Given the description of an element on the screen output the (x, y) to click on. 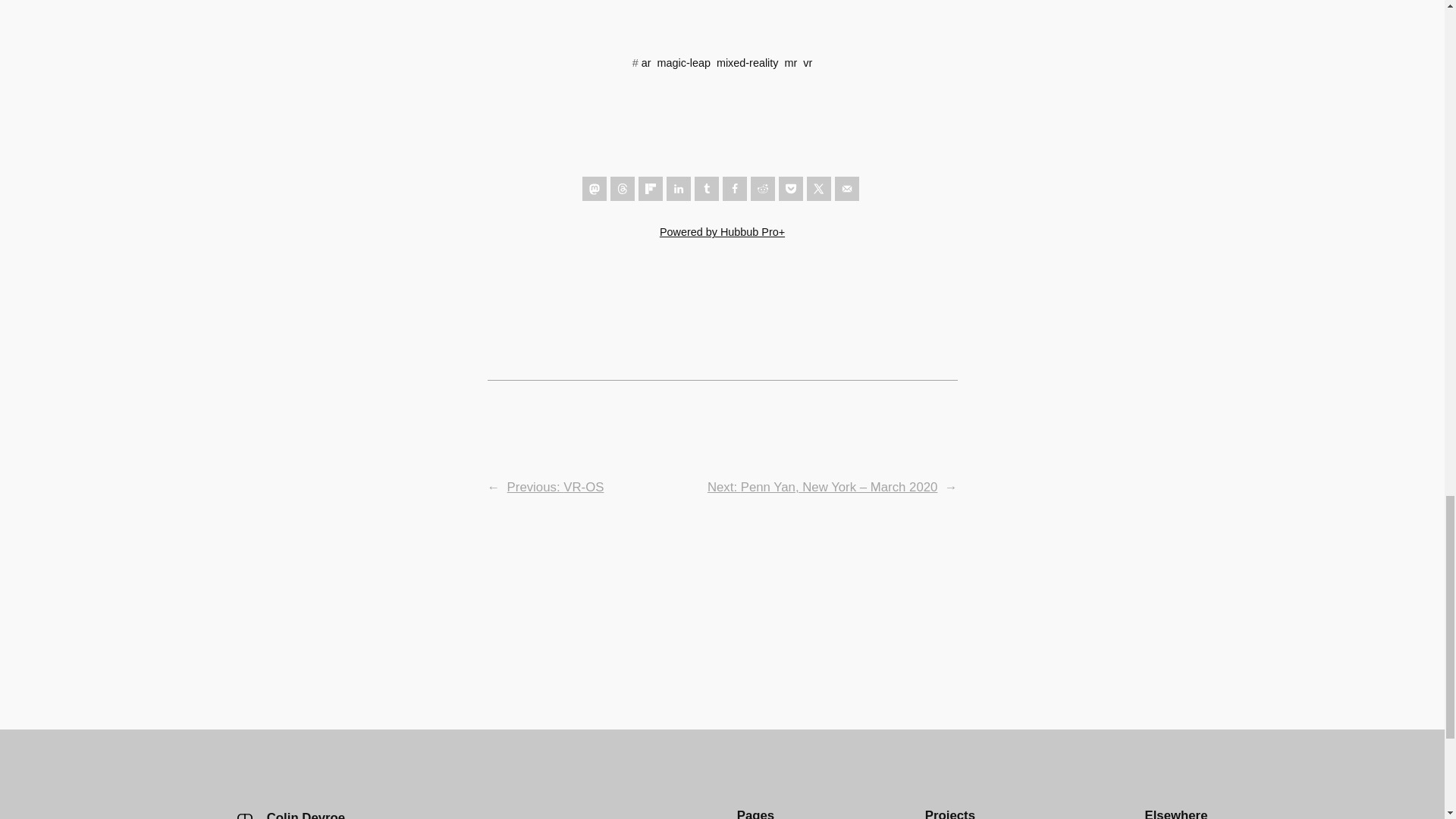
Previous: VR-OS (555, 486)
Share on Threads (621, 188)
Share on Tumblr (706, 188)
Share on Mastodon (594, 188)
mr (790, 62)
mixed-reality (747, 62)
Share on Flipboard (650, 188)
magic-leap (684, 62)
Share on LinkedIn (677, 188)
